Given the description of an element on the screen output the (x, y) to click on. 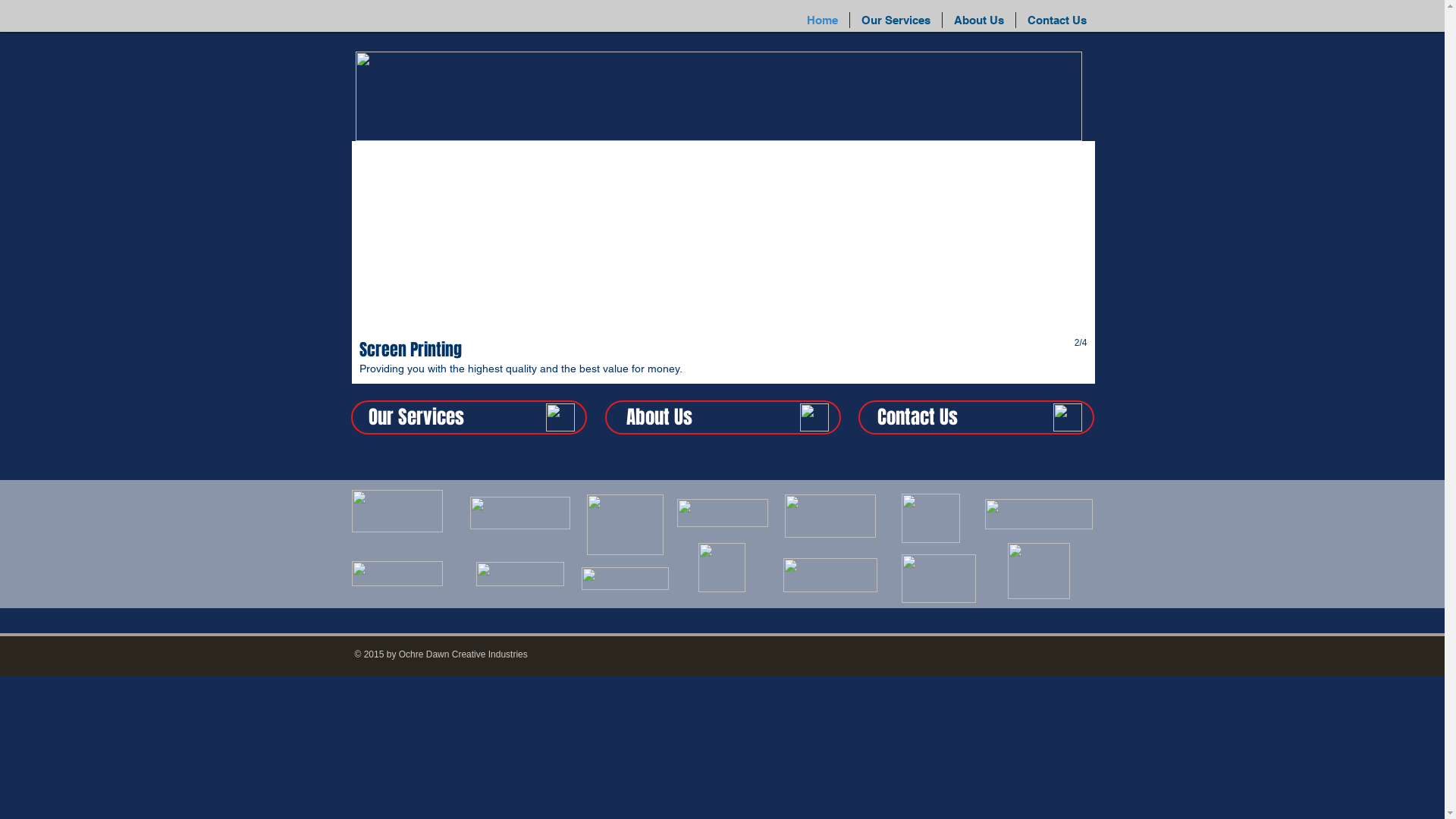
NSP WEB.jpg Element type: hover (717, 96)
gildan.png Element type: hover (396, 573)
headwear.jpg Element type: hover (1038, 570)
Biz-Collection-Logo.jpg Element type: hover (396, 510)
Ochre Dawn Creative Industries Element type: text (462, 654)
Unknown_edited.png Element type: hover (624, 578)
bocini.png Element type: hover (721, 512)
Untitled-1.png Element type: hover (720, 567)
About Us Element type: text (978, 20)
Our Services Element type: text (416, 416)
Our Services Element type: text (895, 20)
Contact Us Element type: text (1057, 20)
About Us Element type: text (659, 416)
ramo.jpg Element type: hover (520, 573)
dnc-workwear.png Element type: hover (937, 578)
winning-spirit.jpg Element type: hover (929, 517)
gear-for-life.png Element type: hover (829, 515)
aussie-pacific.jpg Element type: hover (624, 524)
Contact Us Element type: text (916, 416)
Home Element type: text (822, 20)
jbs-wear.jpg Element type: hover (520, 512)
flexfit-logo.png Element type: hover (1038, 513)
